Given the description of an element on the screen output the (x, y) to click on. 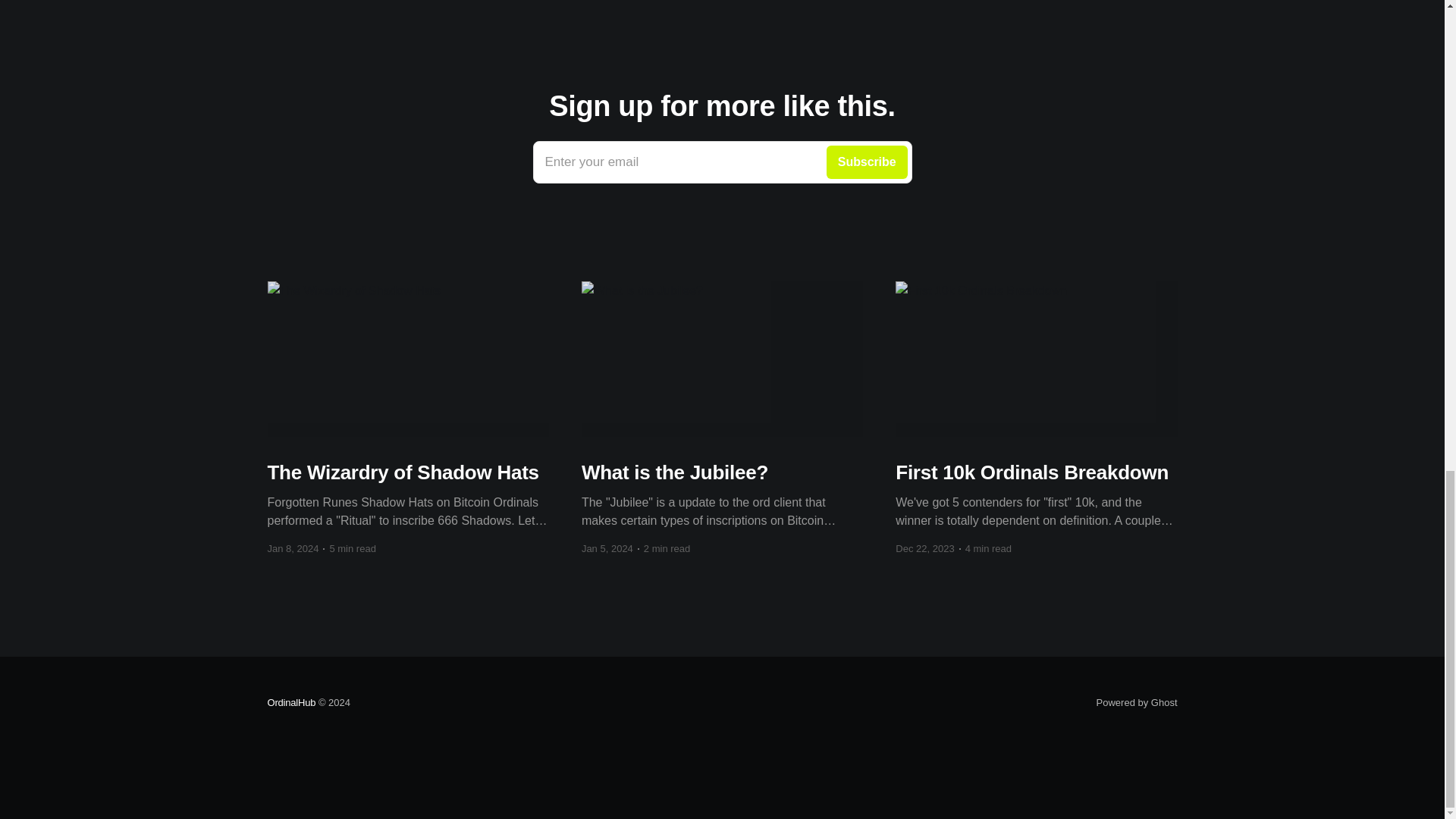
OrdinalHub (721, 161)
Project Spotlight - Inscribed Pepes (290, 702)
Powered by Ghost (721, 12)
